Given the description of an element on the screen output the (x, y) to click on. 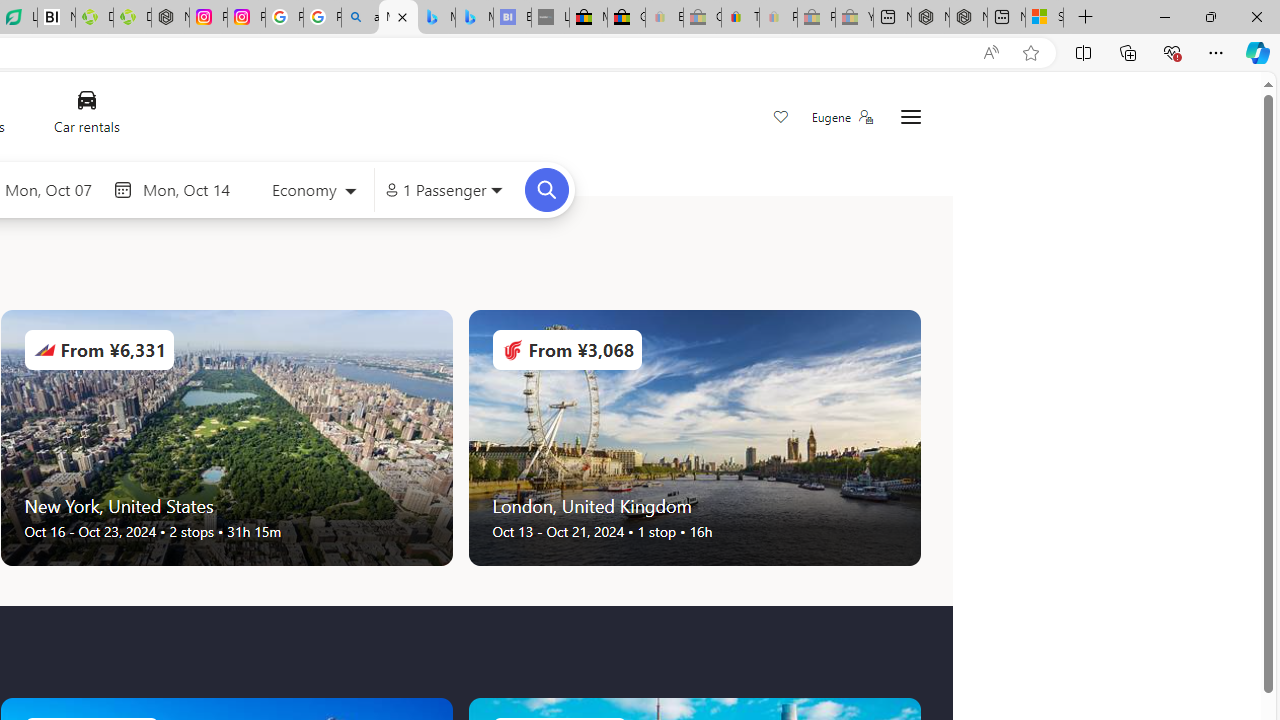
Select class of service (313, 192)
Yard, Garden & Outdoor Living - Sleeping (853, 17)
alabama high school quarterback dies - Search (359, 17)
Airlines Logo (512, 349)
Descarga Driver Updater (132, 17)
Car rentals (85, 116)
